Given the description of an element on the screen output the (x, y) to click on. 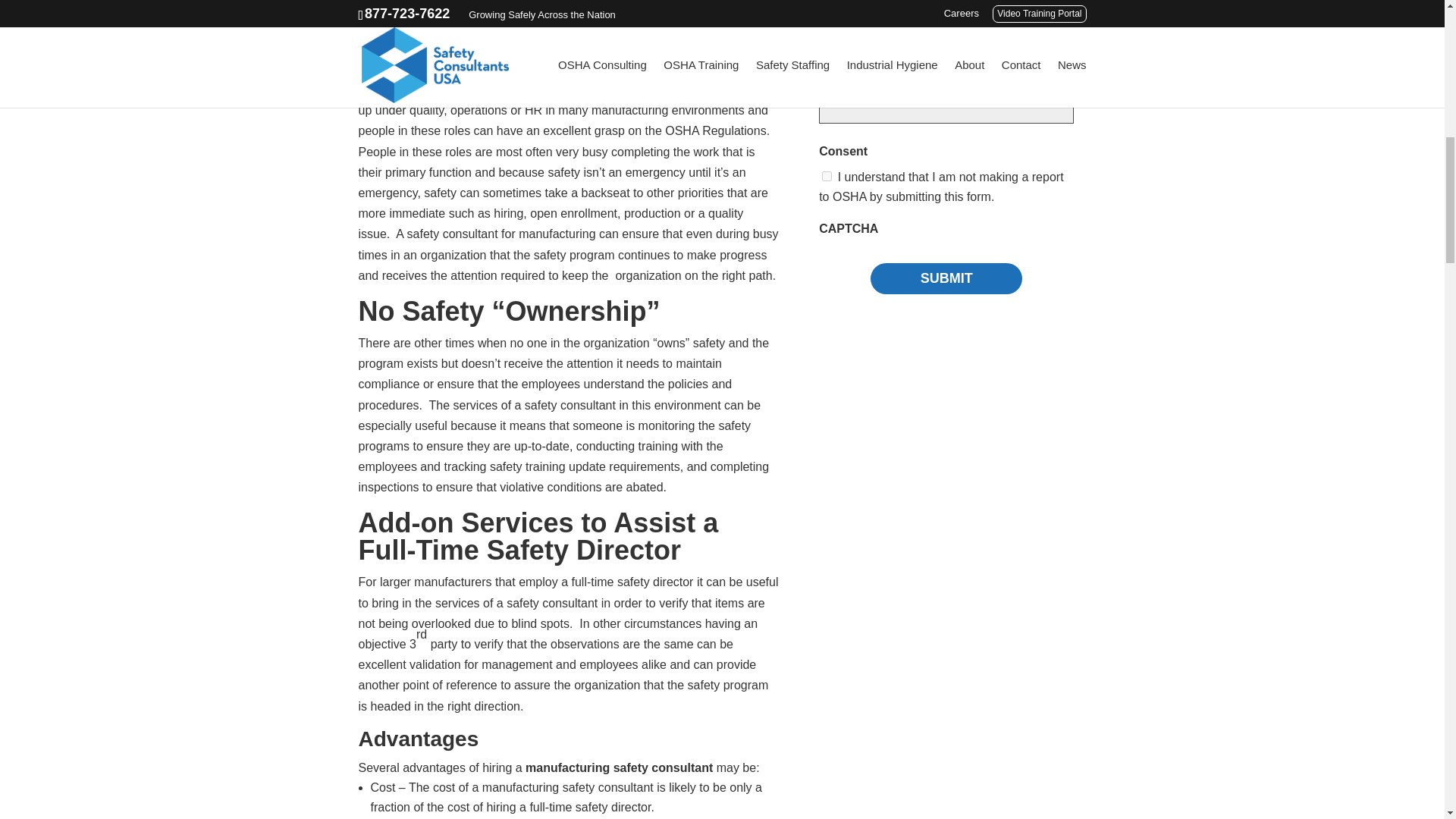
SUBMIT (946, 278)
SUBMIT (946, 278)
1 (826, 175)
